Given the description of an element on the screen output the (x, y) to click on. 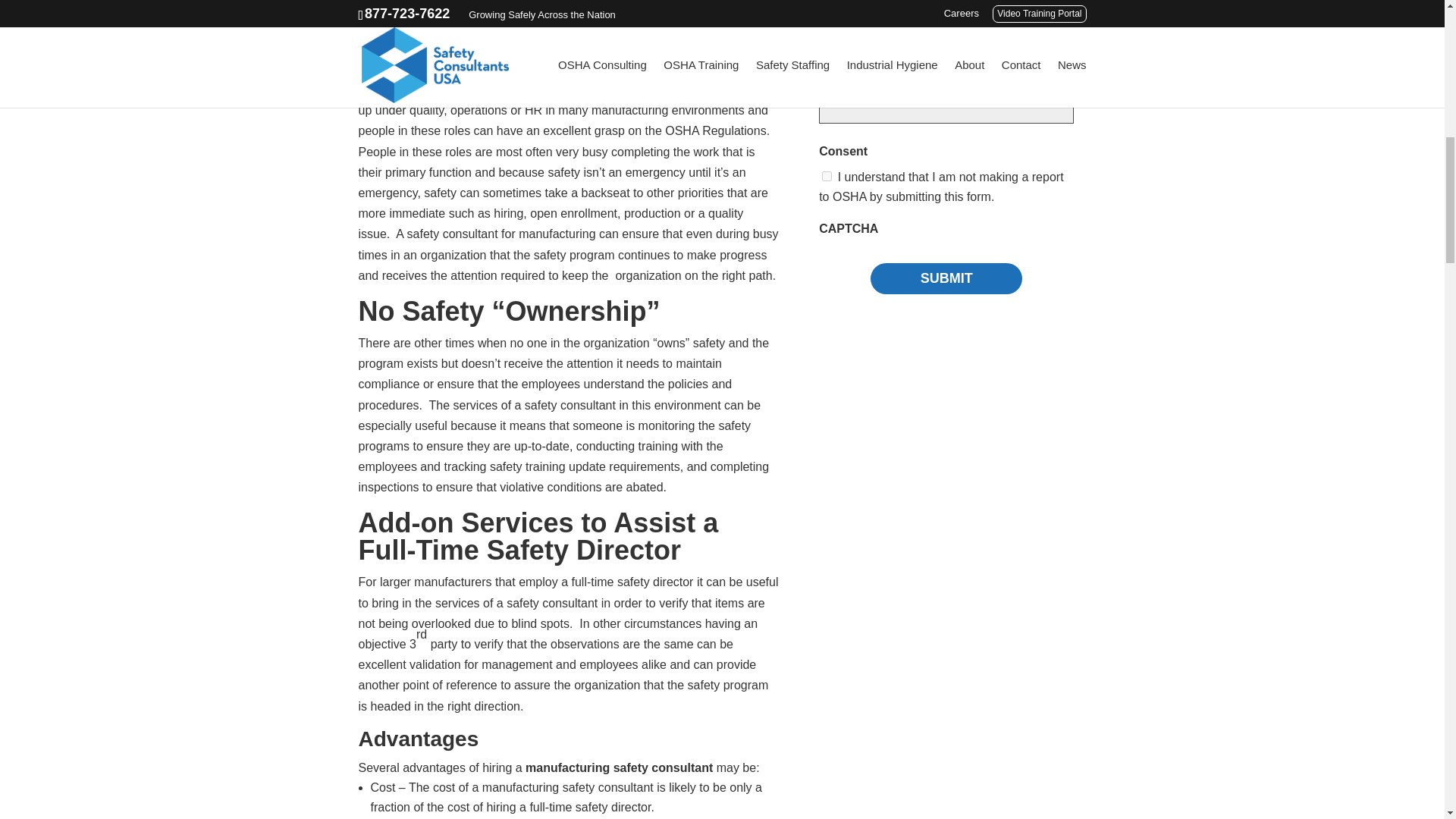
SUBMIT (946, 278)
SUBMIT (946, 278)
1 (826, 175)
